Given the description of an element on the screen output the (x, y) to click on. 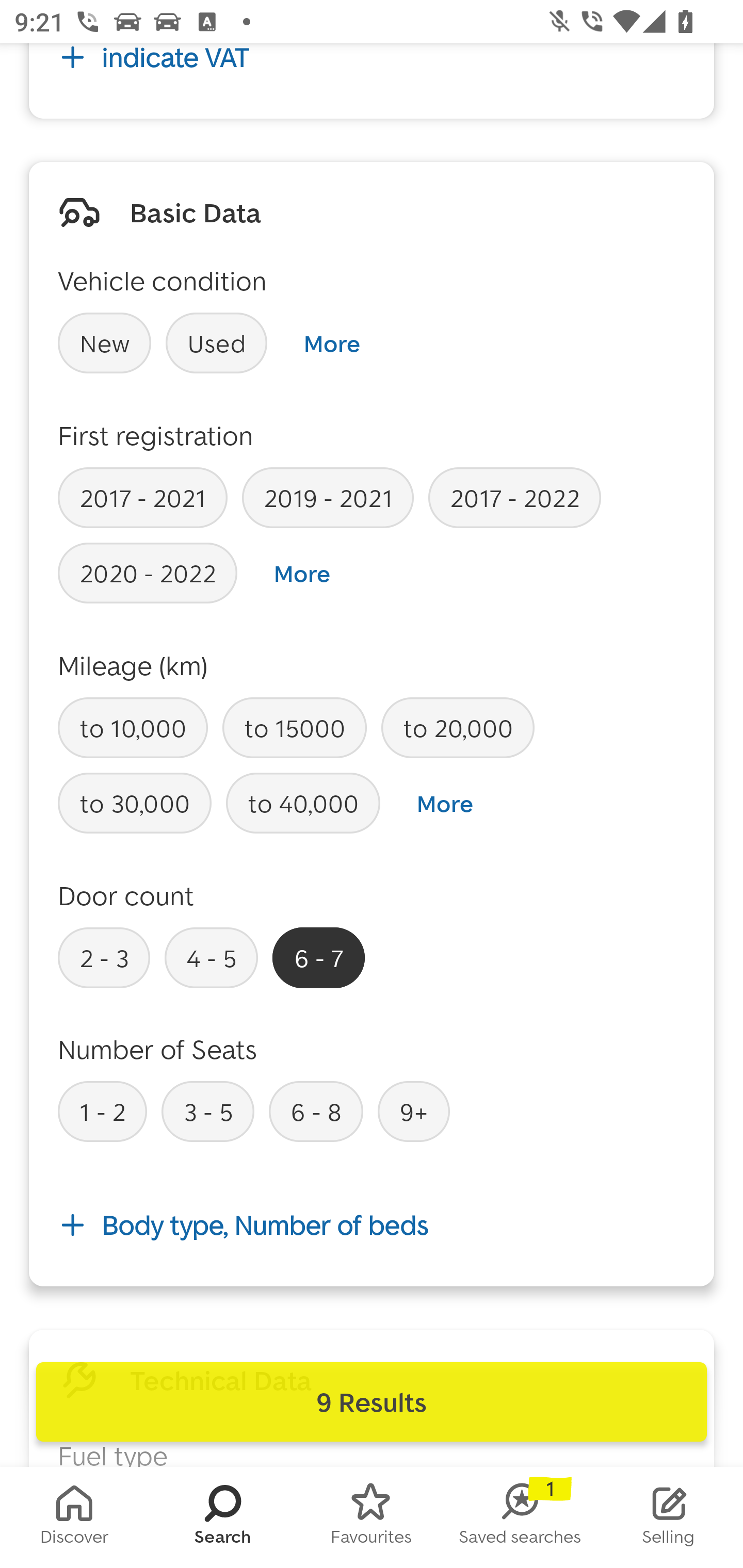
indicate VAT (371, 70)
Basic Data (195, 212)
Vehicle condition (161, 280)
New (103, 342)
Used (216, 342)
More (331, 343)
First registration (155, 435)
2017 - 2021 (142, 497)
2019 - 2021 (327, 497)
2017 - 2022 (514, 497)
2020 - 2022 (147, 572)
More (301, 573)
Mileage (km) (132, 665)
to 10,000 (132, 727)
to 15000 (294, 727)
to 20,000 (457, 727)
to 30,000 (134, 803)
to 40,000 (302, 803)
More (444, 803)
Door count (125, 895)
2 - 3 (103, 956)
4 - 5 (210, 956)
6 - 7 (318, 956)
Number of Seats (157, 1048)
1 - 2 (102, 1110)
3 - 5 (207, 1110)
6 - 8 (315, 1110)
9+ (413, 1110)
Body type, Number of beds (371, 1225)
9 Results (371, 1401)
HOMESCREEN Discover (74, 1517)
SEARCH Search (222, 1517)
FAVORITES Favourites (371, 1517)
SAVED_SEARCHES Saved searches 1 (519, 1517)
STOCK_LIST Selling (668, 1517)
